Given the description of an element on the screen output the (x, y) to click on. 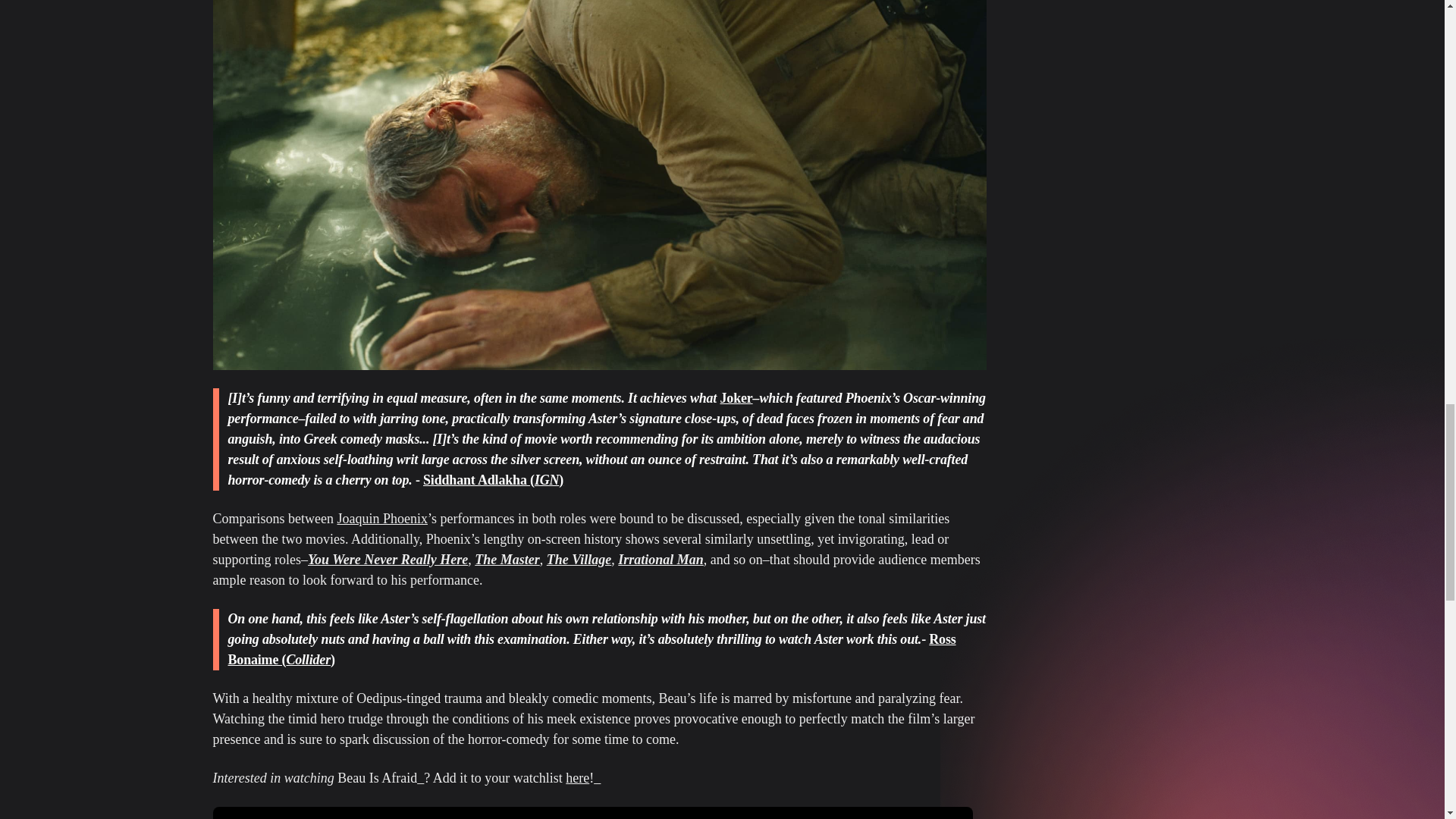
The Master (507, 559)
Irrational Man (660, 559)
here (577, 777)
Joker (736, 397)
Joaquin Phoenix (382, 518)
The Village (579, 559)
You Were Never Really Here (387, 559)
